Given the description of an element on the screen output the (x, y) to click on. 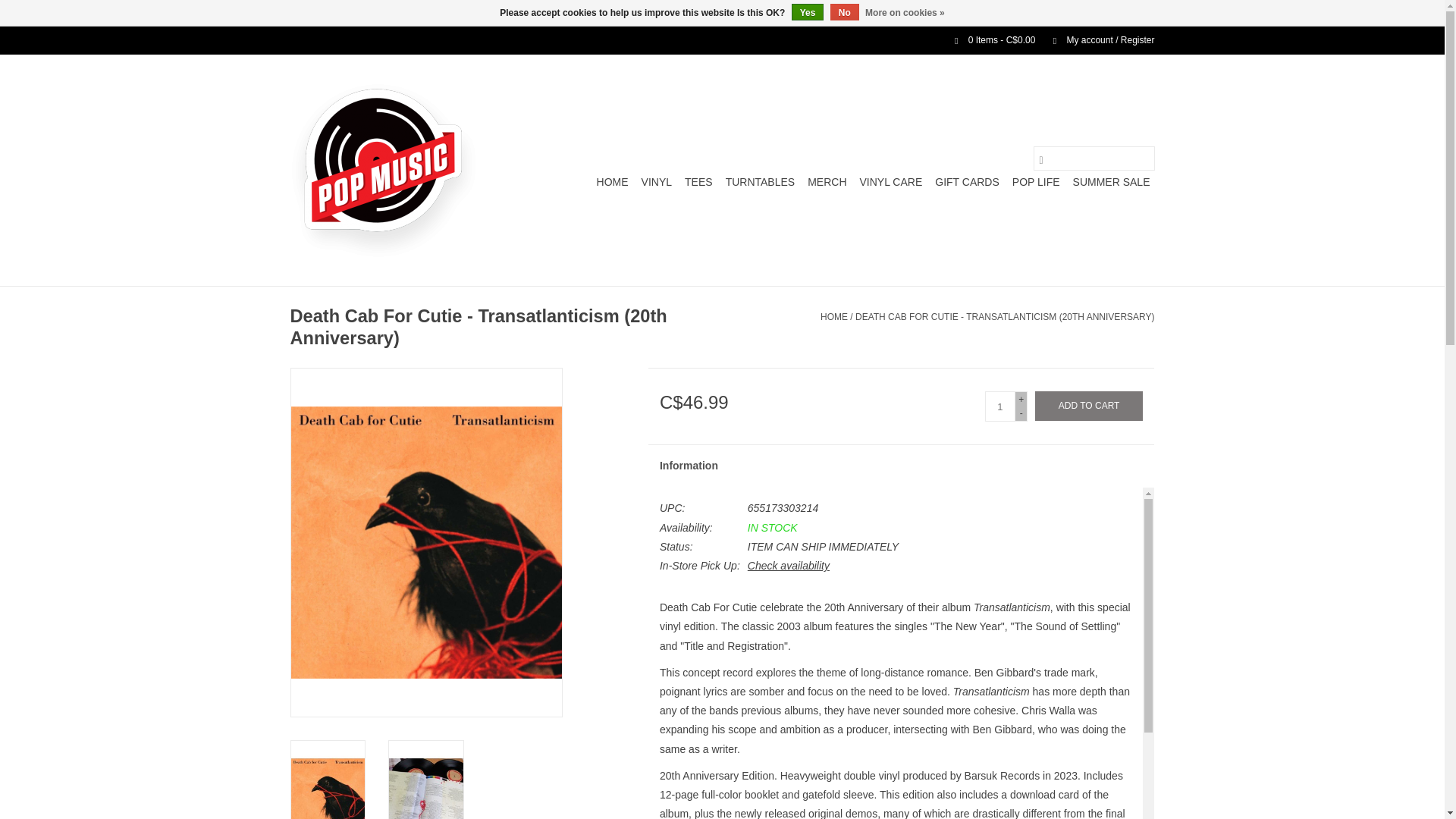
Pop Music: The Most Popular Records (382, 169)
MERCH (826, 181)
TURNTABLES (759, 181)
HOME (612, 181)
Vinyl (657, 181)
1 (999, 406)
TEES (698, 181)
VINYL CARE (891, 181)
Cart (988, 40)
VINYL (657, 181)
My account (1096, 40)
